Given the description of an element on the screen output the (x, y) to click on. 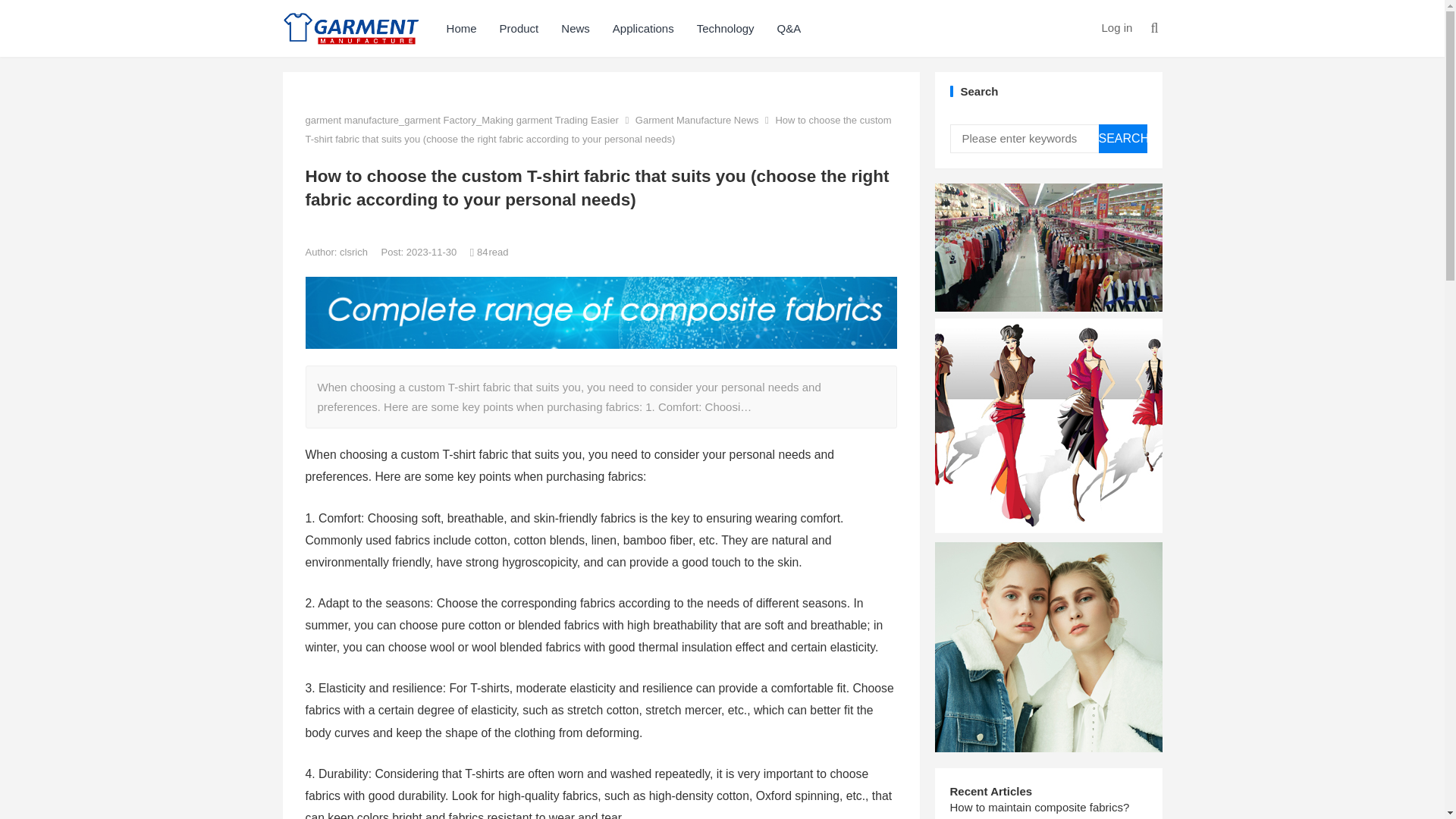
Garment Manufacture News (696, 119)
Log in (1116, 27)
clsrich (354, 251)
Product (518, 28)
News (575, 28)
Applications (643, 28)
Log in (1116, 27)
SEARCH (1122, 138)
Home (461, 28)
Technology (725, 28)
